Given the description of an element on the screen output the (x, y) to click on. 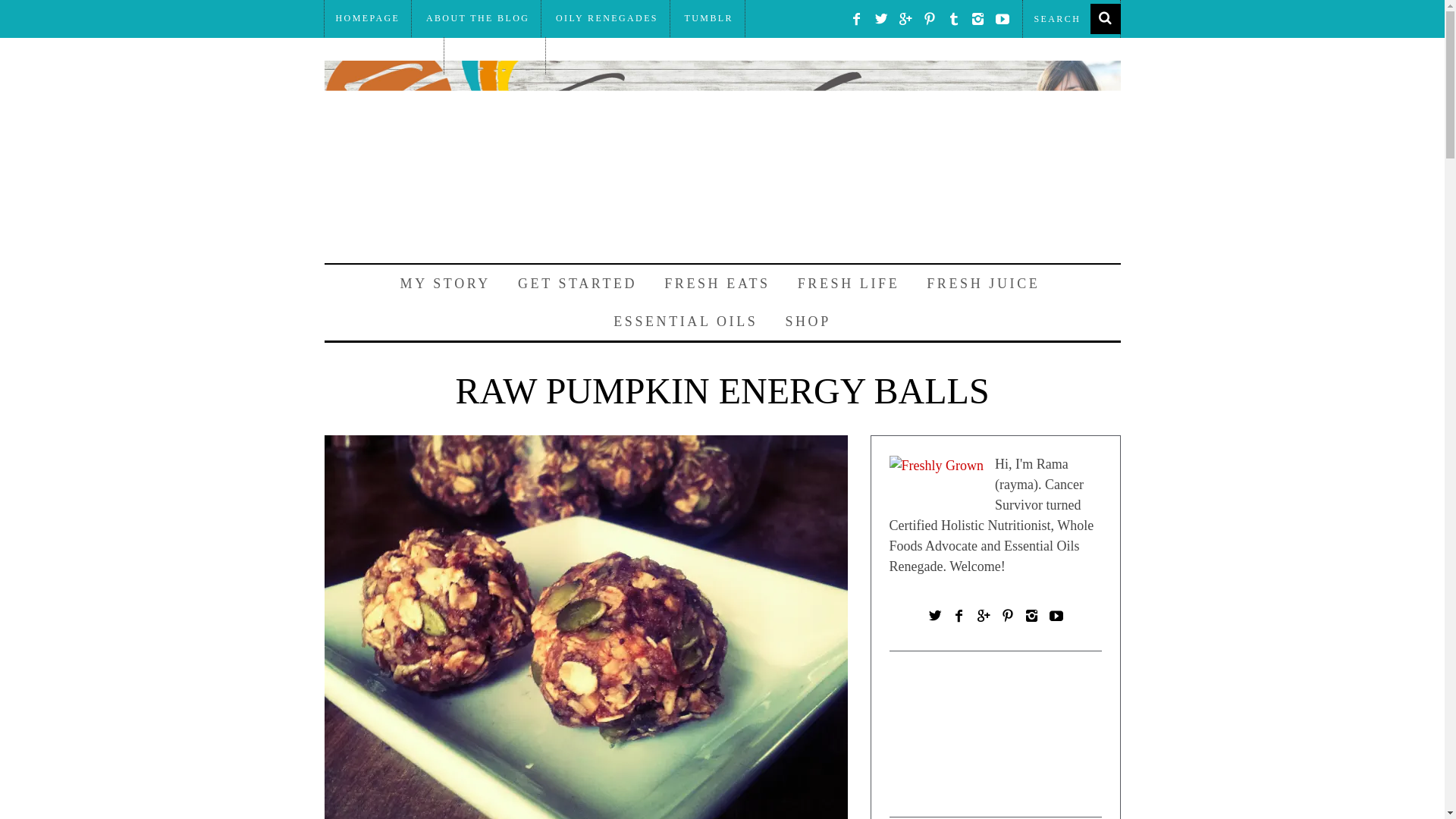
MEAL PLANS (495, 54)
TUMBLR (708, 18)
FRESH EATS (716, 283)
Search (1071, 18)
OILY RENEGADES (606, 18)
ABOUT THE BLOG (477, 18)
GET STARTED (576, 283)
HOMEPAGE (368, 18)
MY STORY (445, 283)
THRIVE MARKET (383, 54)
